Given the description of an element on the screen output the (x, y) to click on. 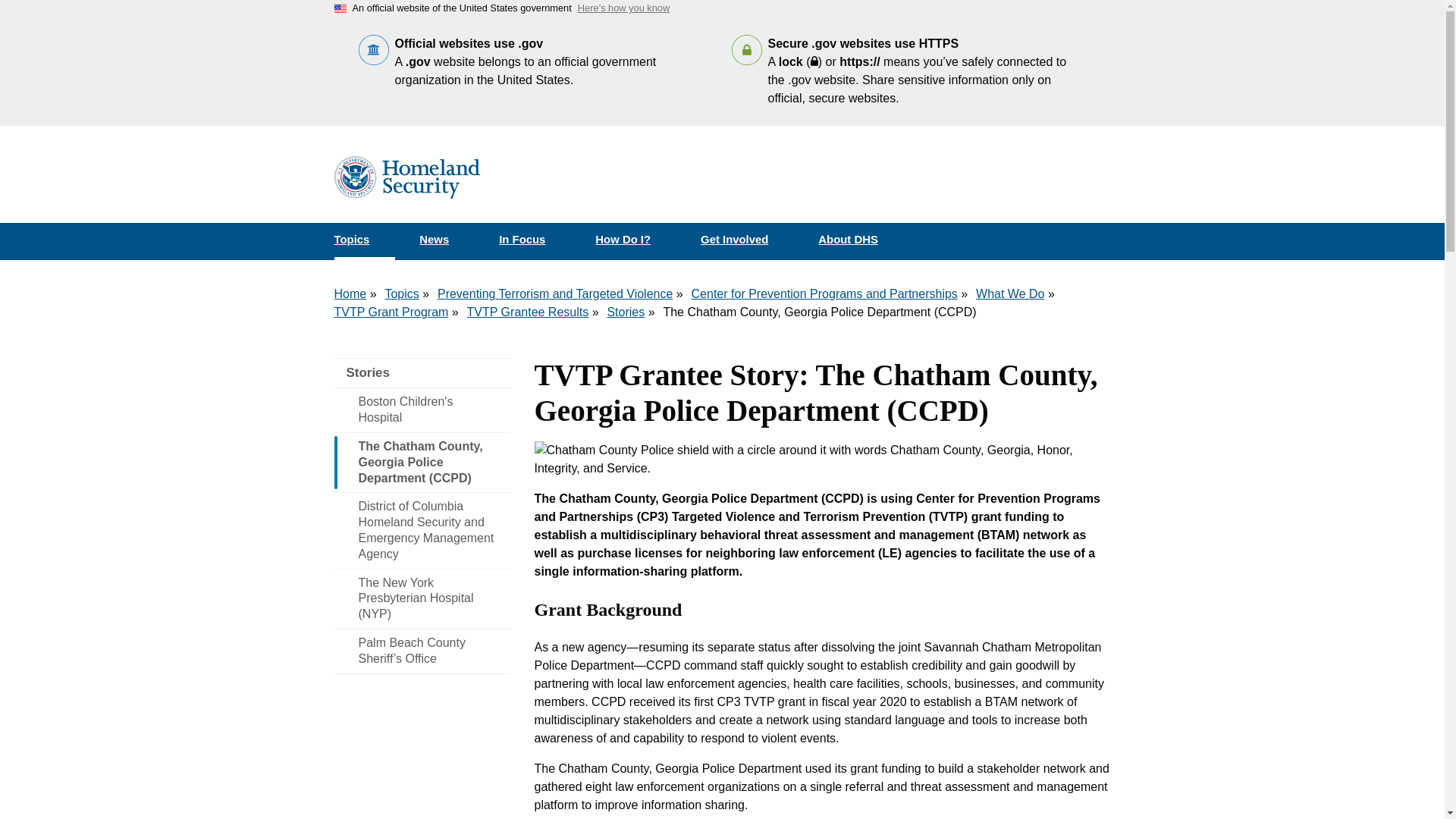
Get Involved (747, 239)
How Do I? (635, 239)
Stories (626, 311)
TVTP Grantee Results (528, 311)
What We Do (1009, 293)
Center for Prevention Programs and Partnerships (824, 293)
News (446, 239)
About DHS (860, 239)
Preventing Terrorism and Targeted Violence (555, 293)
Boston Children's Hospital (421, 410)
TVTP Grant Program (390, 311)
In Focus (534, 239)
